Given the description of an element on the screen output the (x, y) to click on. 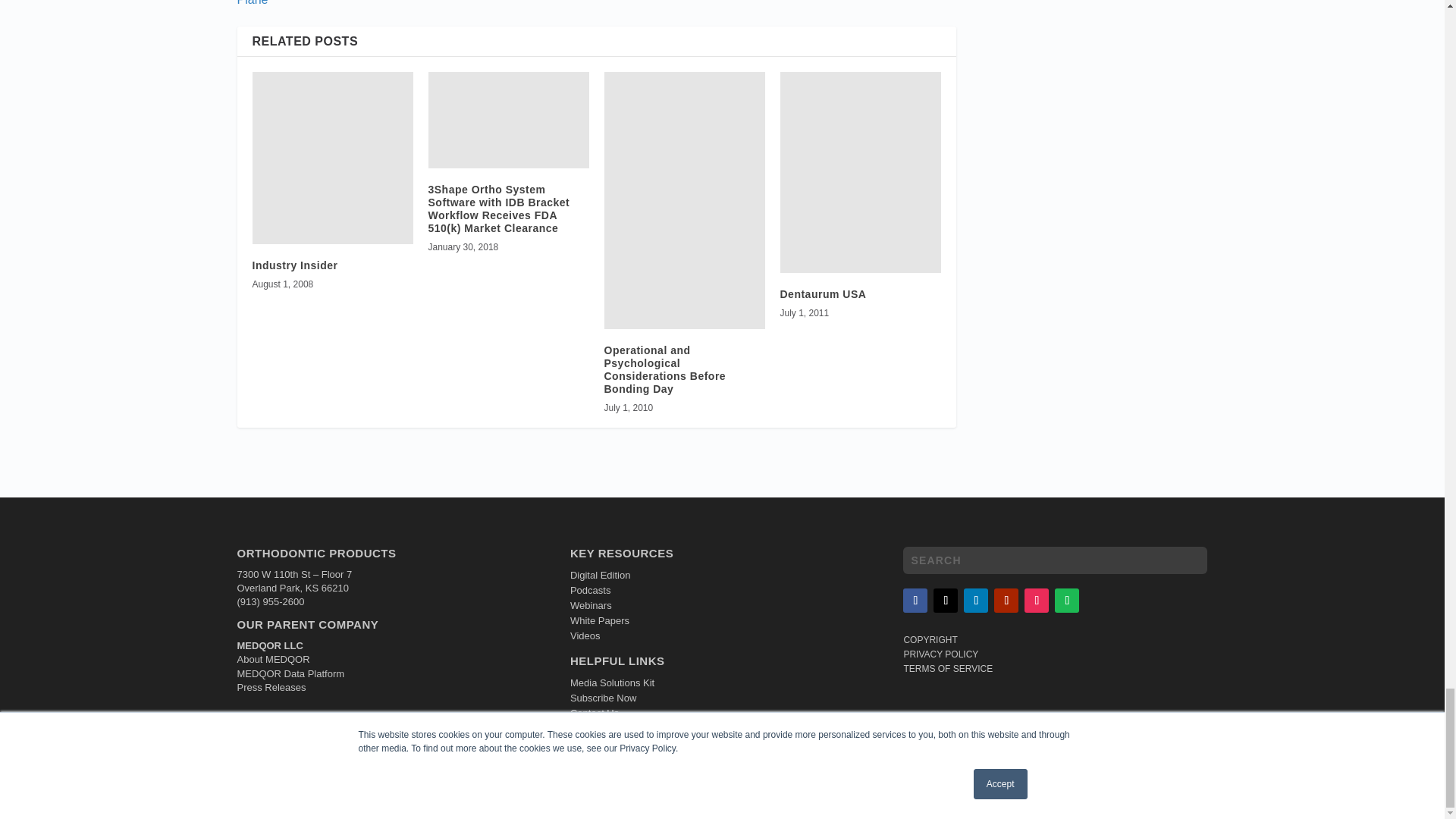
Industry Insider (331, 158)
